Given the description of an element on the screen output the (x, y) to click on. 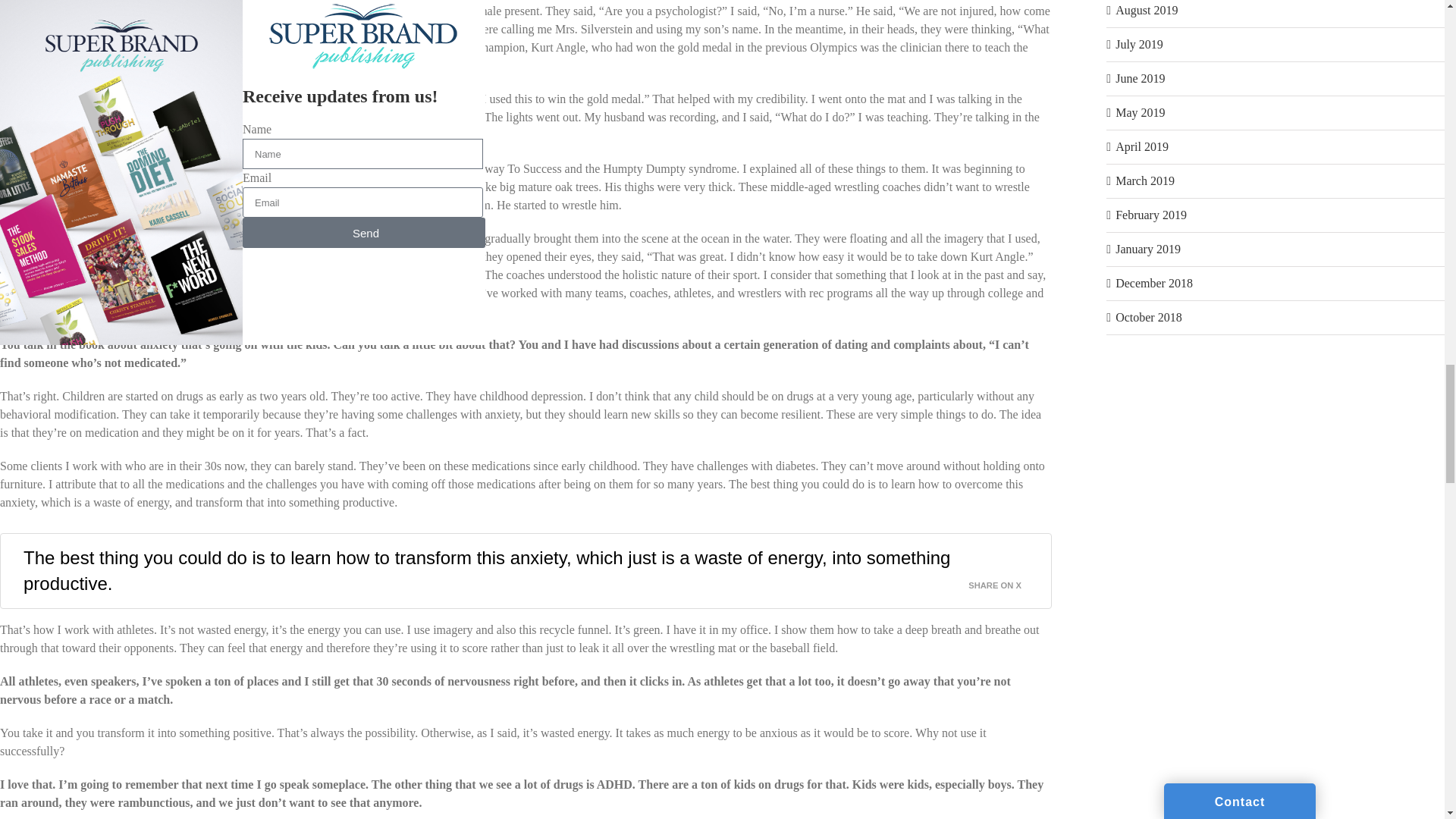
SHARE ON X (1003, 581)
